Given the description of an element on the screen output the (x, y) to click on. 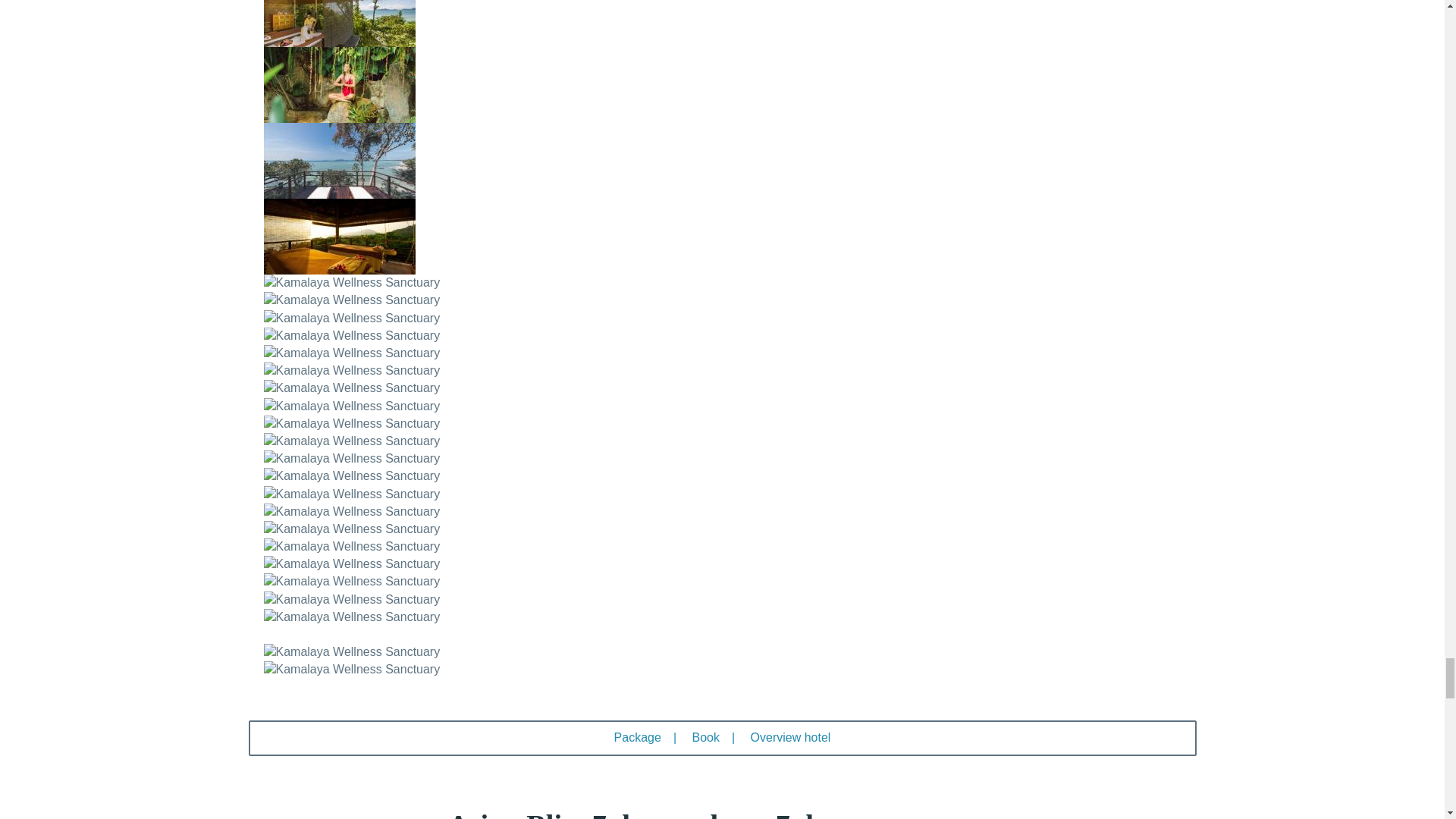
Package (637, 737)
Overview hotel (791, 737)
Book (705, 737)
